Given the description of an element on the screen output the (x, y) to click on. 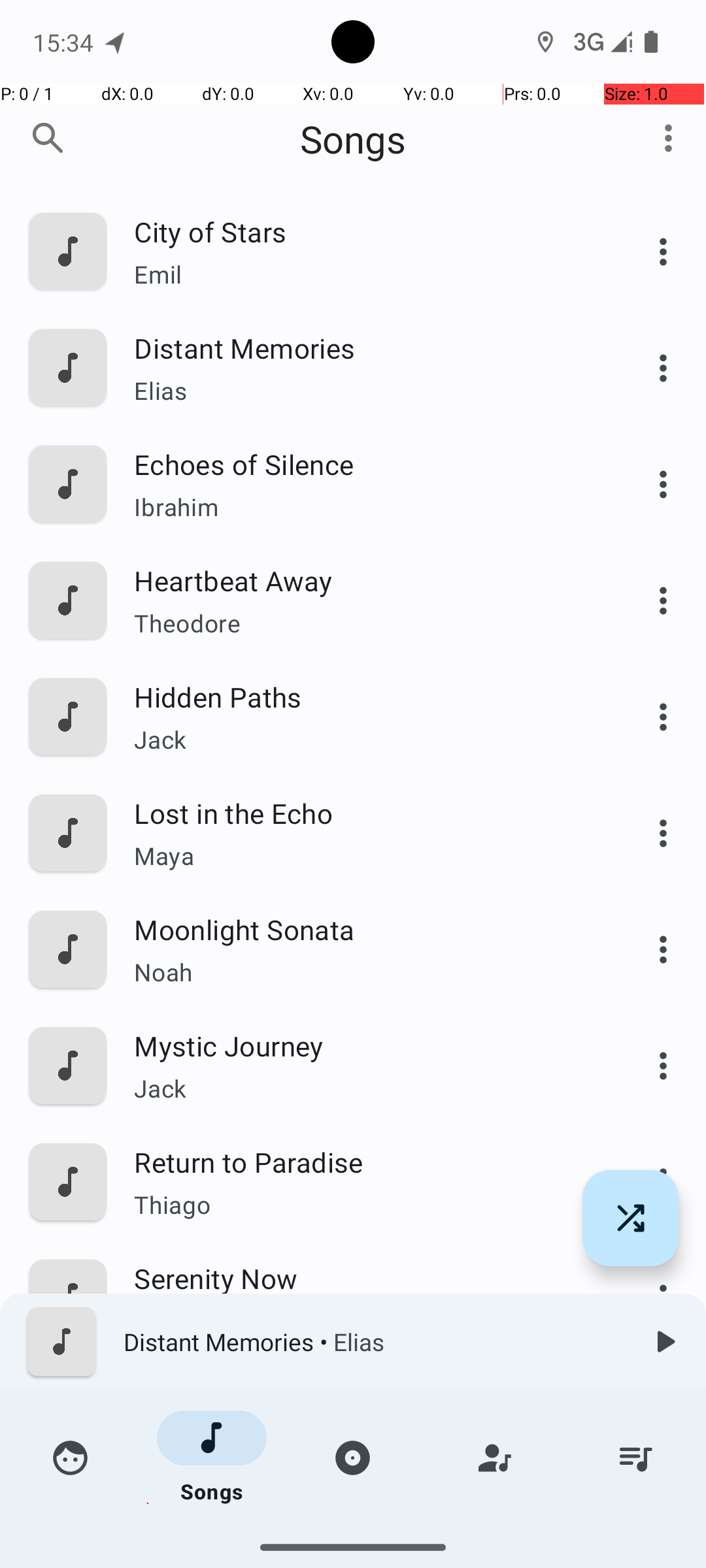
Distant Memories • Elias Element type: android.widget.TextView (372, 1341)
City of Stars Element type: android.widget.TextView (363, 231)
Emil Element type: android.widget.TextView (363, 273)
Distant Memories Element type: android.widget.TextView (363, 347)
Elias Element type: android.widget.TextView (363, 390)
Echoes of Silence Element type: android.widget.TextView (363, 463)
Ibrahim Element type: android.widget.TextView (363, 506)
Heartbeat Away Element type: android.widget.TextView (363, 580)
Theodore Element type: android.widget.TextView (363, 622)
Hidden Paths Element type: android.widget.TextView (363, 696)
Jack Element type: android.widget.TextView (363, 738)
Lost in the Echo Element type: android.widget.TextView (363, 812)
Maya Element type: android.widget.TextView (363, 855)
Moonlight Sonata Element type: android.widget.TextView (363, 928)
Noah Element type: android.widget.TextView (363, 971)
Mystic Journey Element type: android.widget.TextView (363, 1045)
Return to Paradise Element type: android.widget.TextView (363, 1161)
Thiago Element type: android.widget.TextView (363, 1204)
Serenity Now Element type: android.widget.TextView (363, 1277)
Mark Element type: android.widget.TextView (363, 1320)
Silent Dreams Element type: android.widget.TextView (363, 1394)
Olivia Element type: android.widget.TextView (363, 1436)
Twilight Calling Element type: android.widget.TextView (363, 1510)
Emilia Element type: android.widget.TextView (363, 1538)
